Given the description of an element on the screen output the (x, y) to click on. 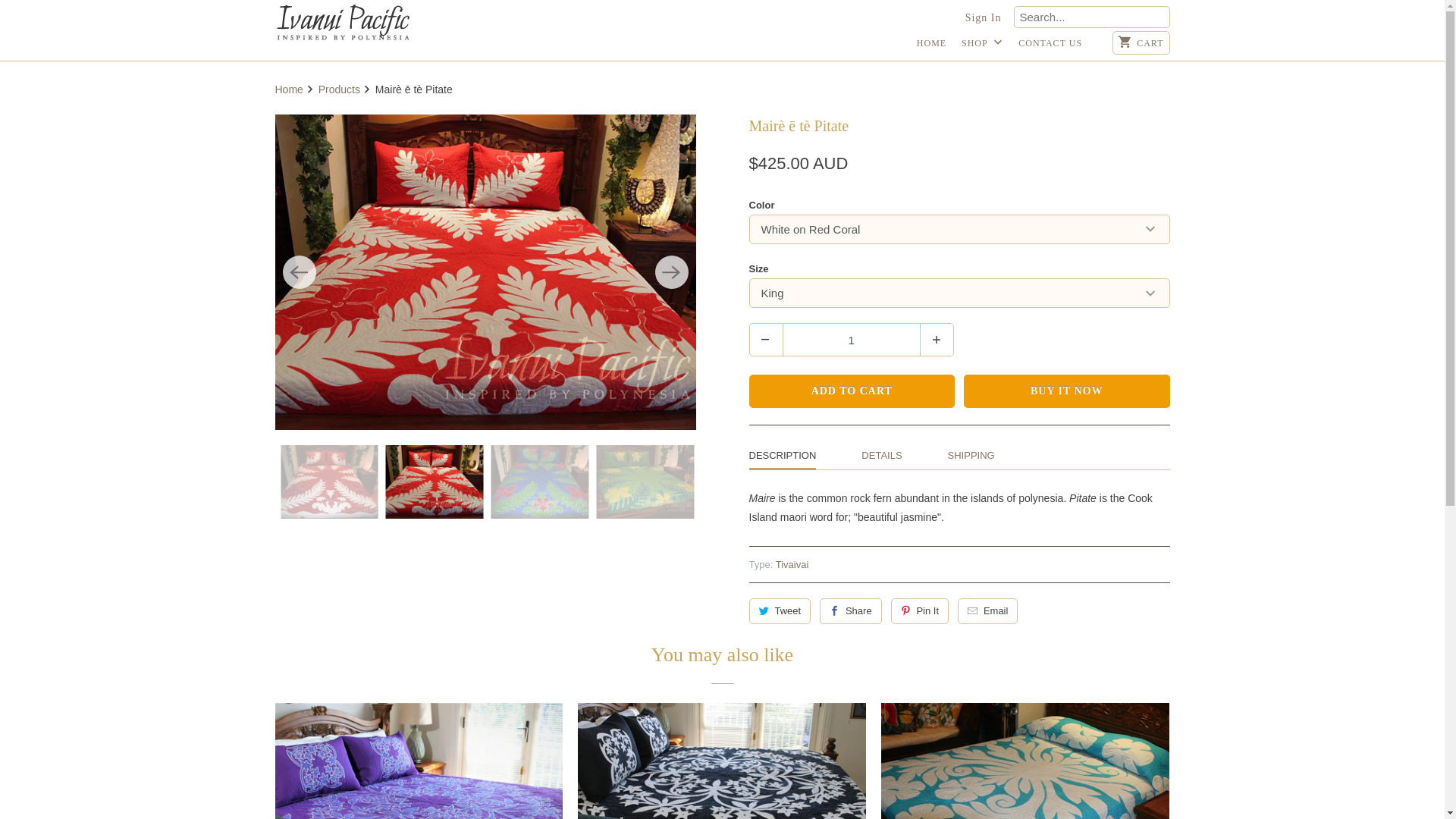
DETAILS Element type: text (881, 455)
HOME Element type: text (931, 46)
Tivaivai Element type: text (792, 564)
Products Element type: text (340, 89)
Sign In Element type: text (983, 17)
Home Element type: text (289, 89)
DESCRIPTION Element type: text (782, 457)
ADD TO CART Element type: text (852, 390)
SHOP Element type: text (982, 46)
Pin It Element type: text (920, 611)
CONTACT US Element type: text (1050, 46)
CART Element type: text (1141, 42)
Tweet Element type: text (780, 611)
Ivanui Pacific Element type: hover (342, 21)
SHIPPING Element type: text (970, 455)
Share Element type: text (850, 611)
Email Element type: text (987, 611)
BUY IT NOW Element type: text (1066, 390)
